Given the description of an element on the screen output the (x, y) to click on. 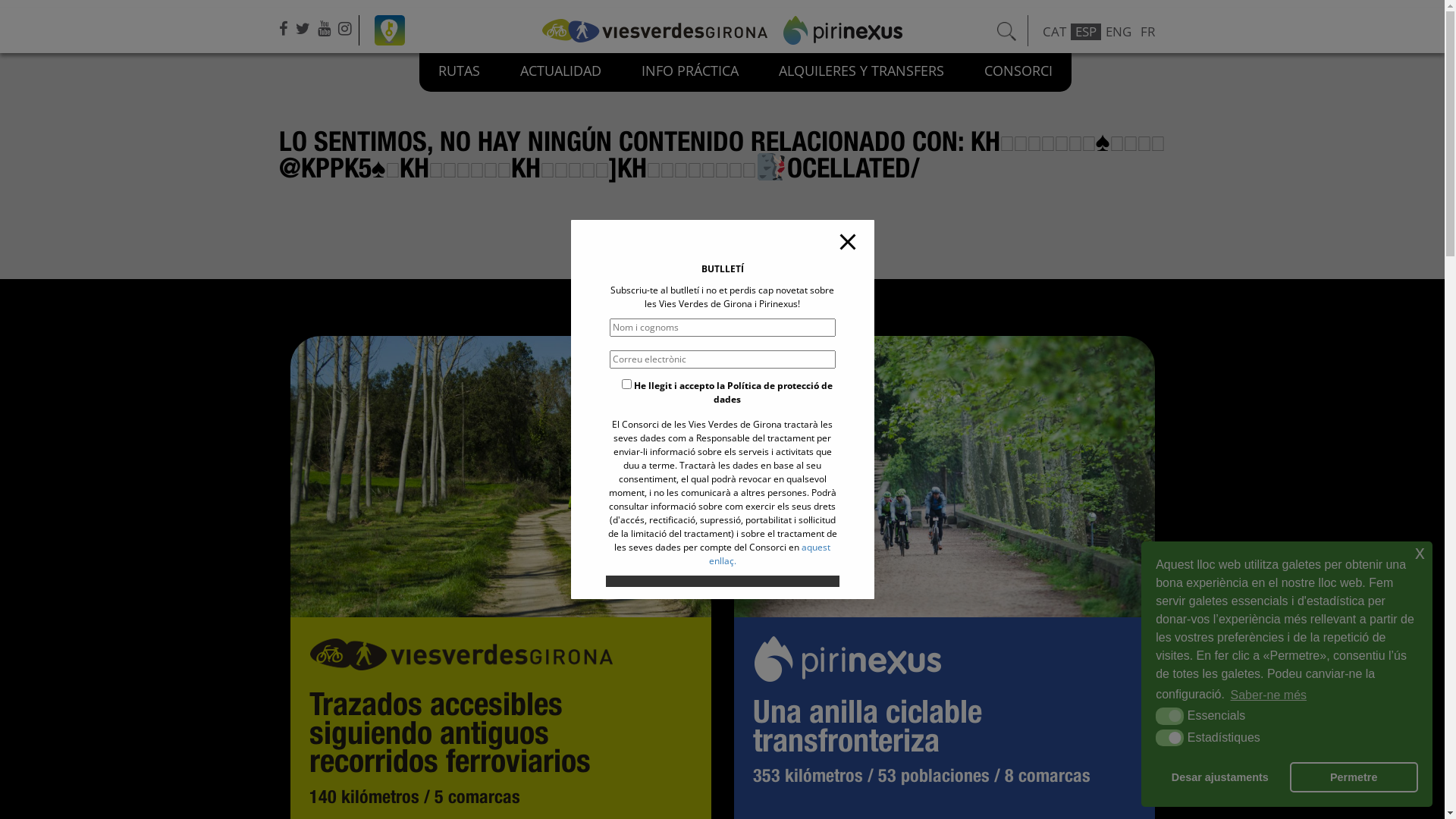
Instagram
Abre en ventana nueva Element type: text (346, 27)
Twitter
Abre en ventana nueva Element type: text (304, 27)
Desar ajustaments Element type: text (1219, 777)
Permetre Element type: text (1353, 777)
CAT Element type: text (1053, 31)
ESP Element type: text (1085, 31)
Youtube
Abre en ventana nueva Element type: text (324, 27)
RUTAS Element type: text (459, 72)
Facebook
Abre en ventana nueva Element type: text (285, 27)
FR Element type: text (1147, 31)
ACTUALIDAD Element type: text (560, 72)
SUBSCRIU-TE Element type: text (721, 597)
ENG Element type: text (1118, 31)
CONSORCI Element type: text (1018, 72)
ALQUILERES Y TRANSFERS Element type: text (860, 72)
